Given the description of an element on the screen output the (x, y) to click on. 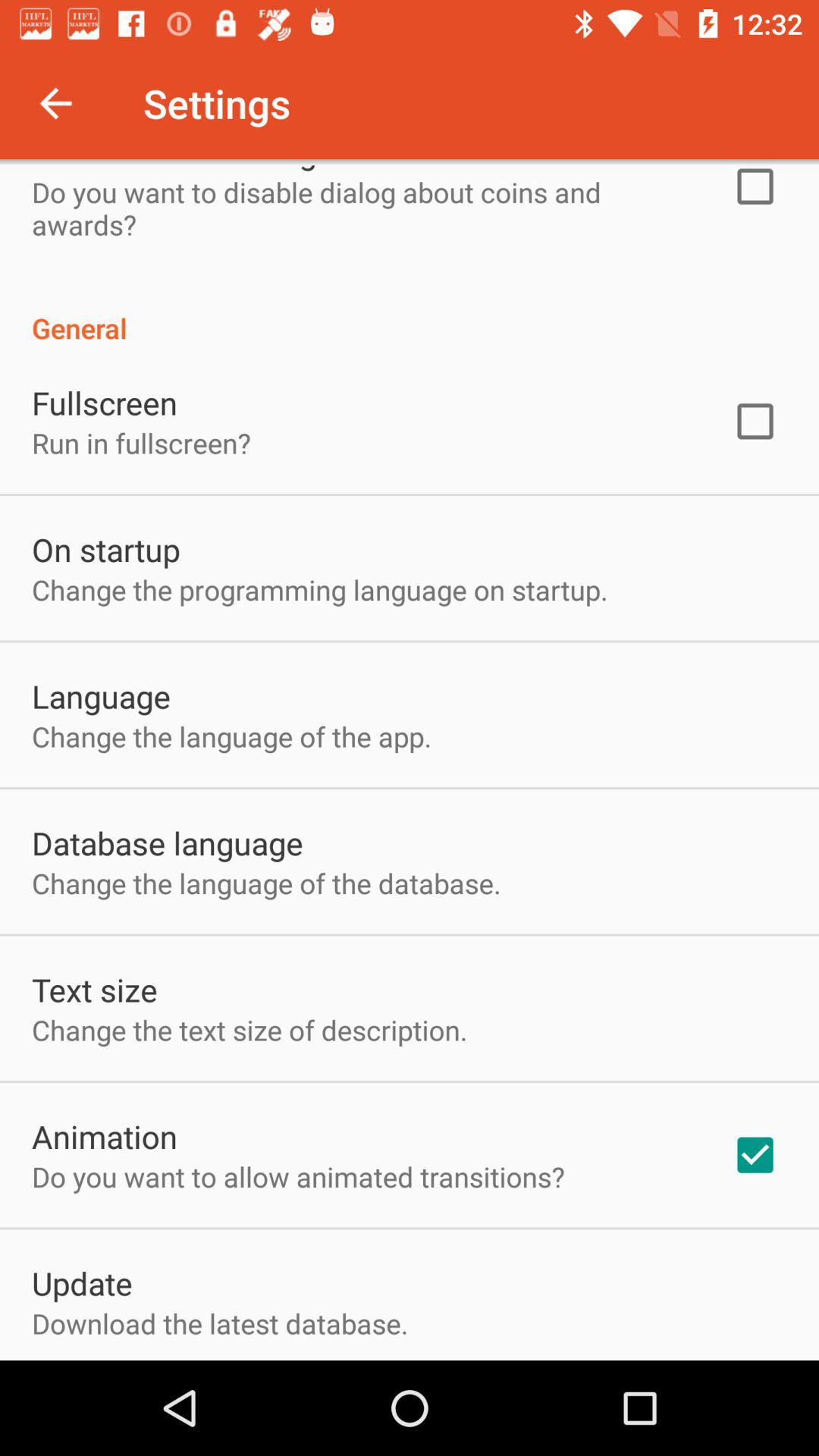
jump to general (409, 311)
